Given the description of an element on the screen output the (x, y) to click on. 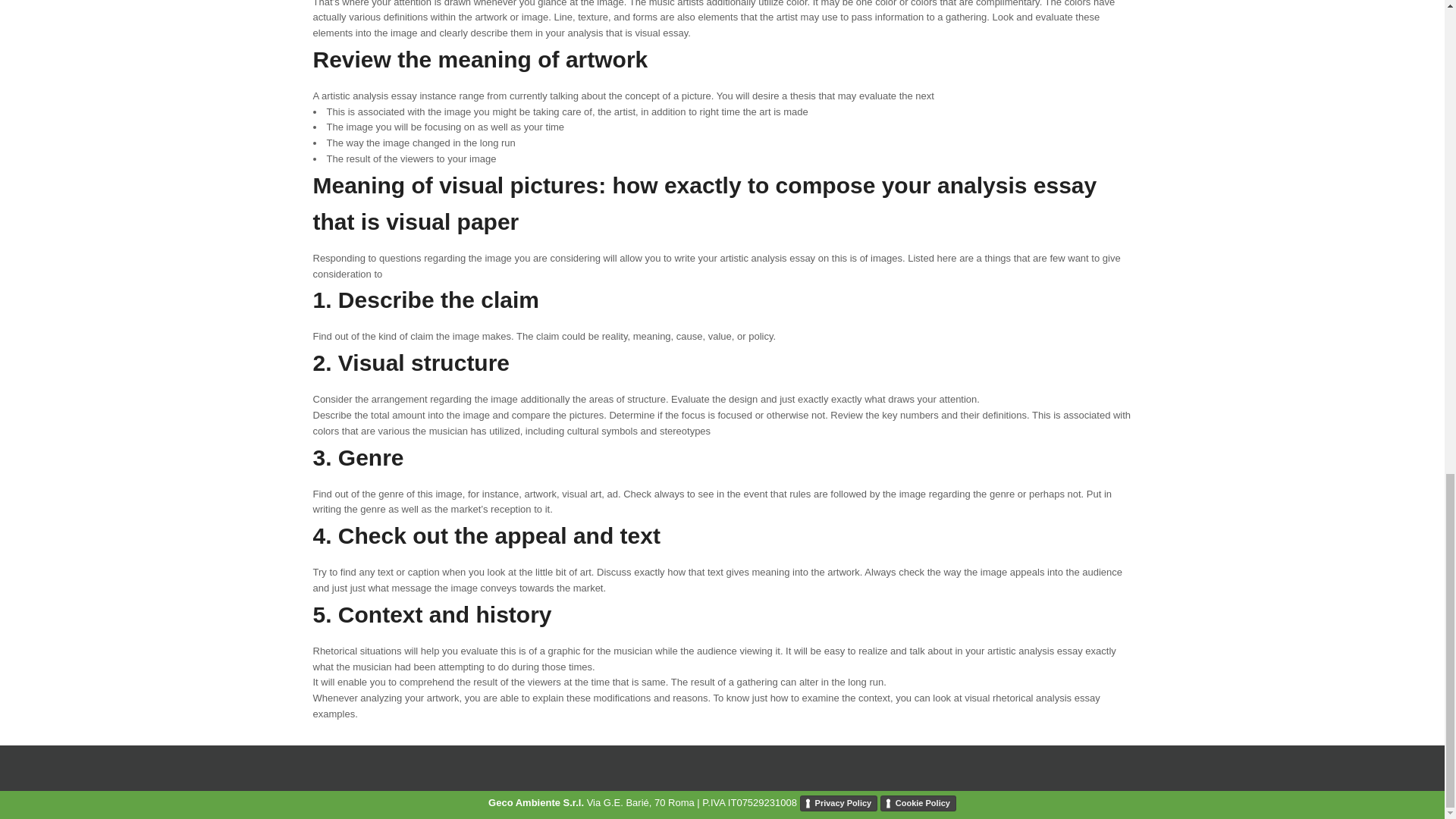
Cookie Policy  (918, 803)
Privacy Policy (838, 803)
Privacy Policy  (838, 803)
Cookie Policy (918, 803)
